Given the description of an element on the screen output the (x, y) to click on. 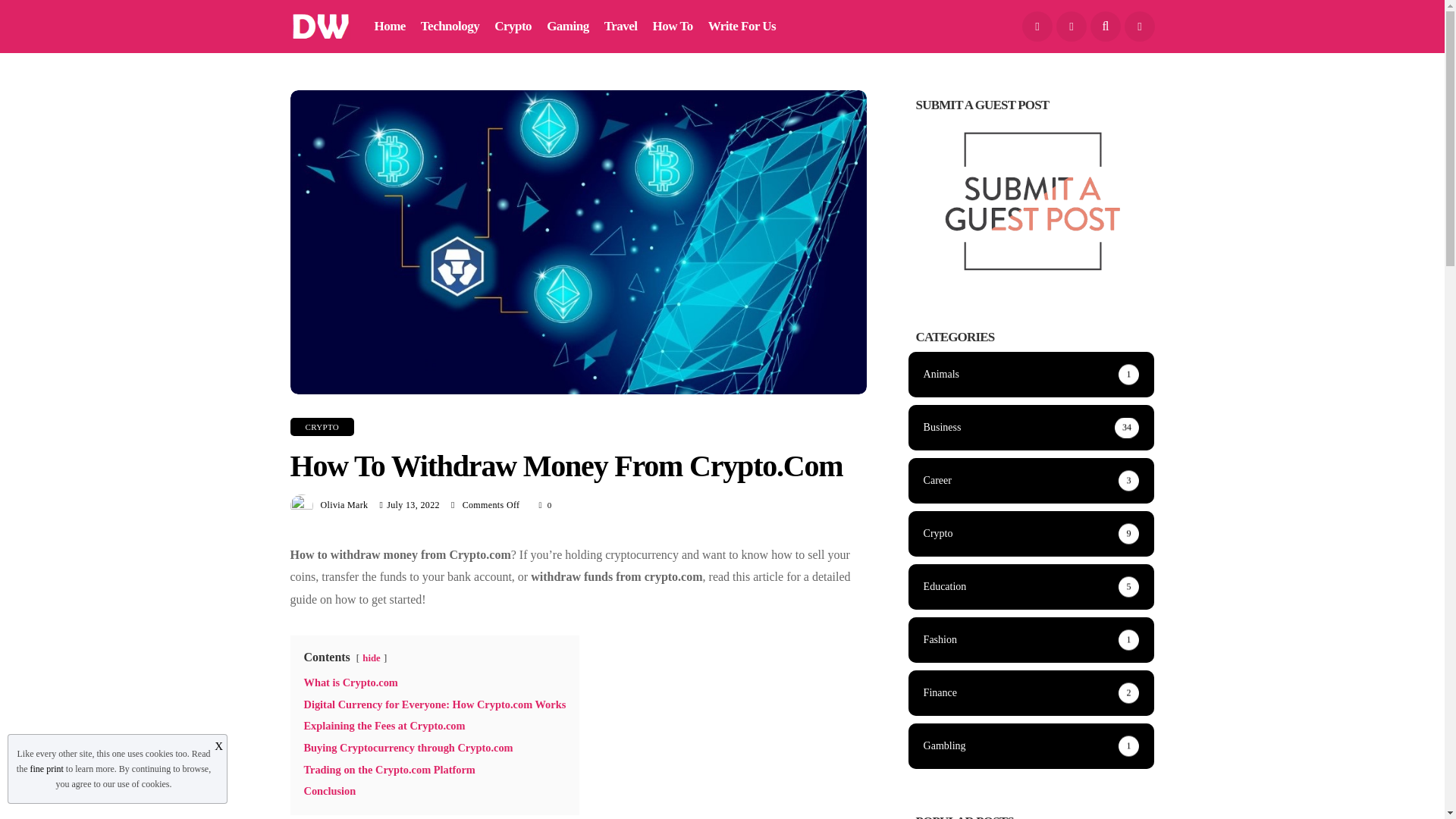
Trading on the Crypto.com Platform (388, 769)
Digital Currency for Everyone: How Crypto.com Works (434, 704)
Technology (449, 26)
Explaining the Fees at Crypto.com (383, 725)
Olivia Mark (344, 504)
hide (371, 657)
0 (545, 504)
Posts by Olivia Mark (344, 504)
Like (545, 504)
What is Crypto.com (349, 682)
